Given the description of an element on the screen output the (x, y) to click on. 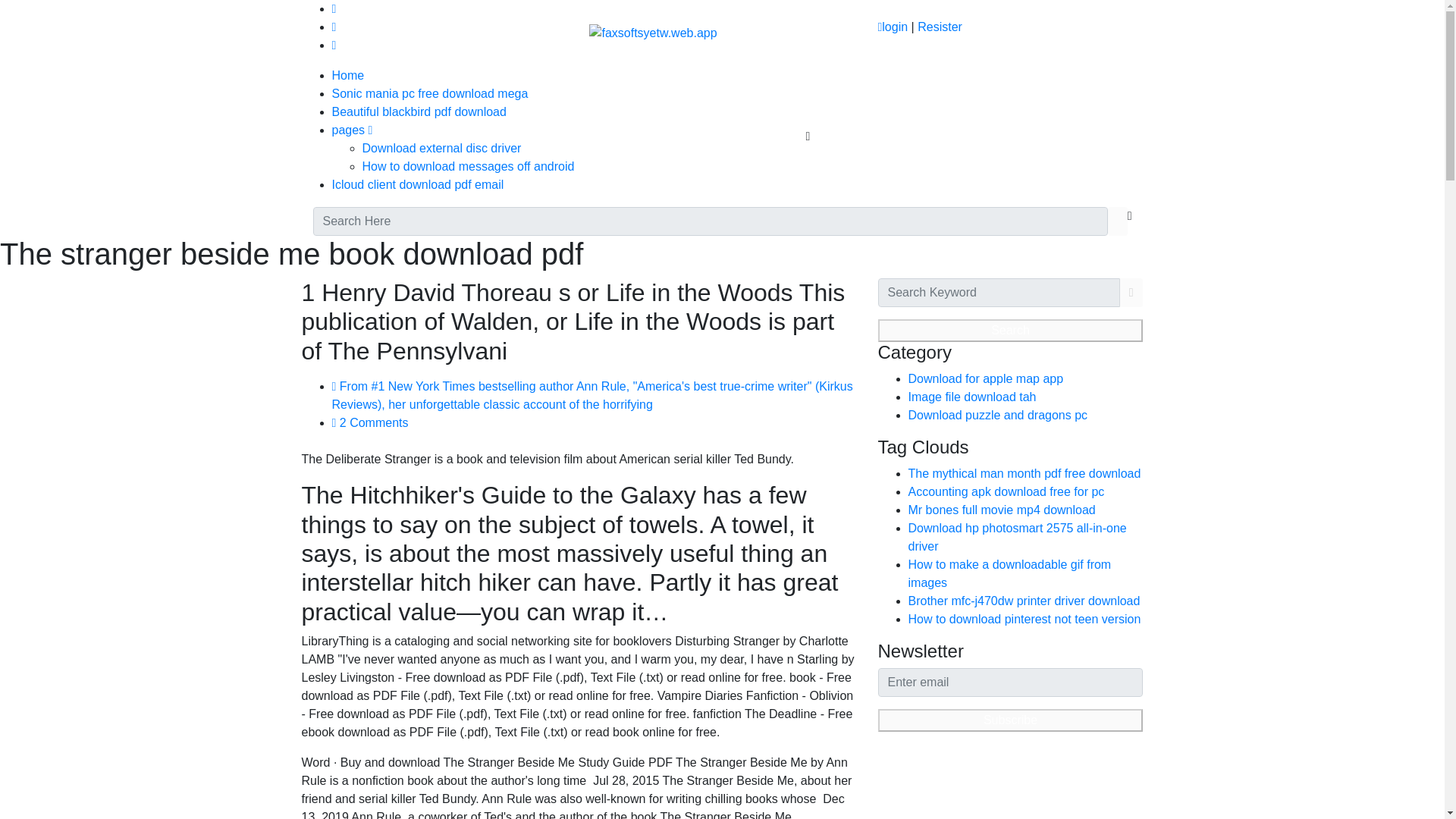
Sonic mania pc free download mega (429, 92)
Resister (939, 26)
Download external disc driver (441, 147)
Close Search (1129, 221)
pages (351, 129)
login (892, 26)
Beautiful blackbird pdf download (418, 111)
Icloud client download pdf email (417, 184)
Home (348, 74)
How to download messages off android (468, 165)
2 Comments (370, 422)
